Given the description of an element on the screen output the (x, y) to click on. 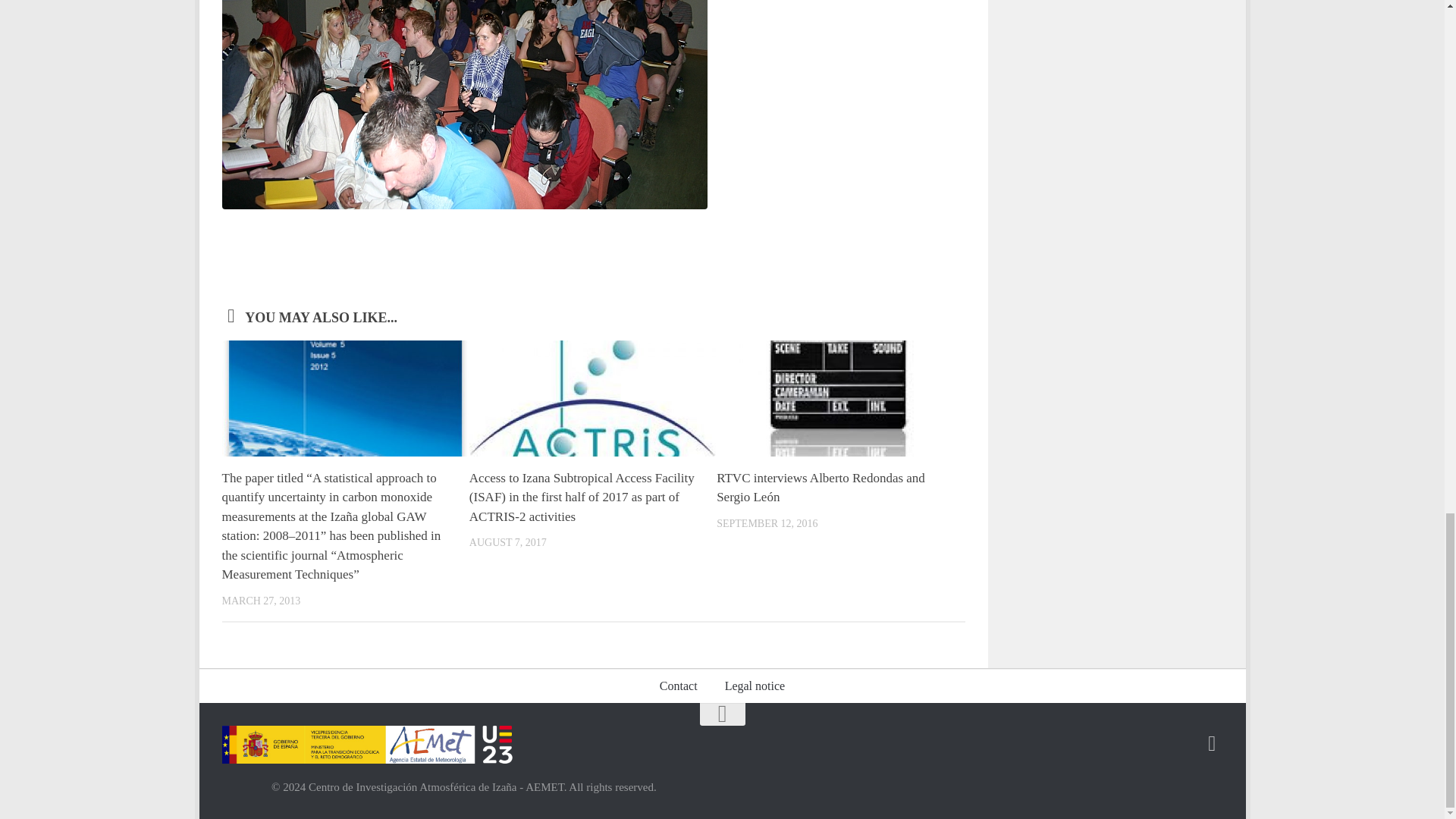
Follow us on Twitter (1212, 743)
